Given the description of an element on the screen output the (x, y) to click on. 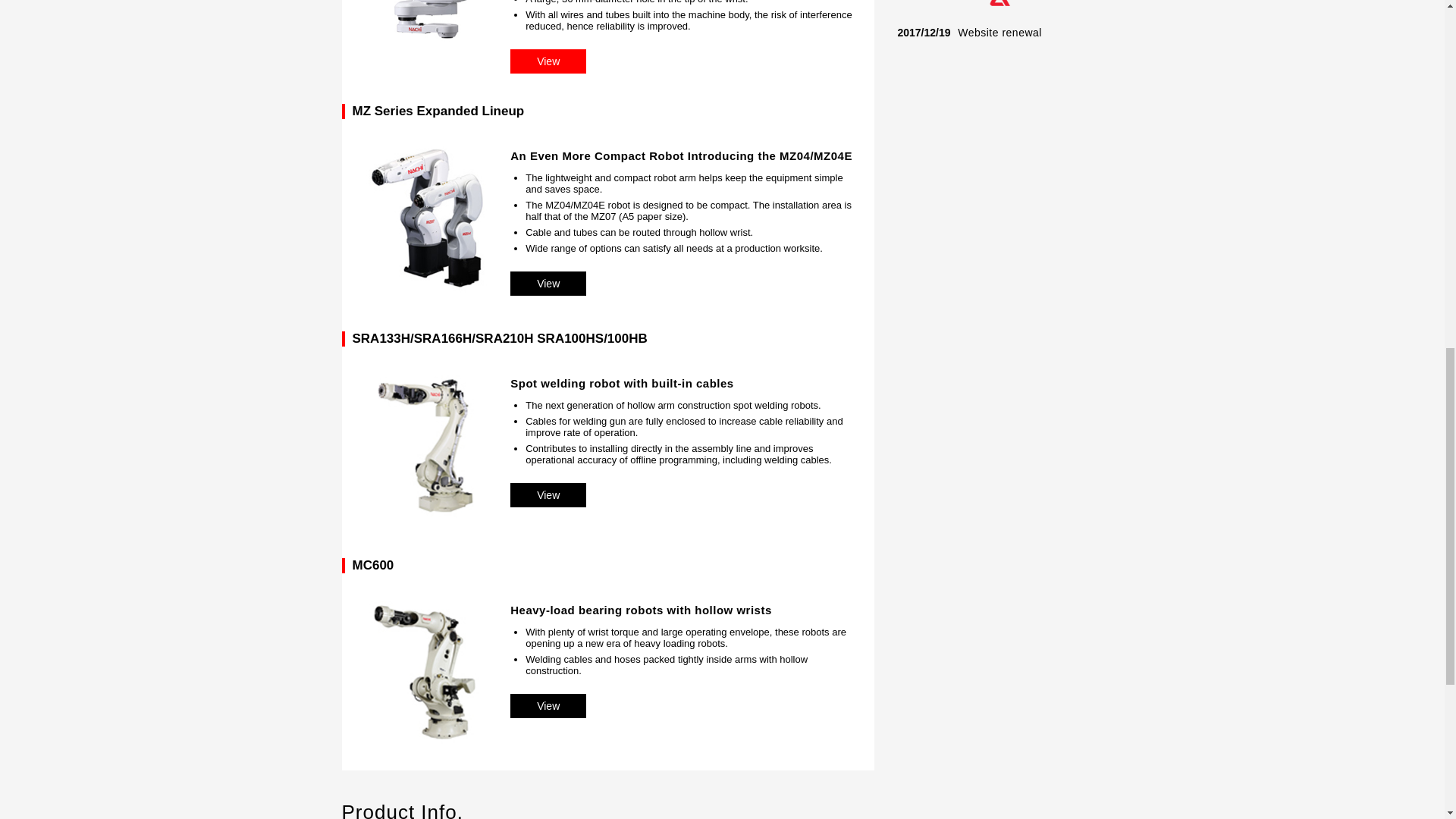
View (548, 705)
View (548, 283)
View (548, 61)
View (548, 494)
